Given the description of an element on the screen output the (x, y) to click on. 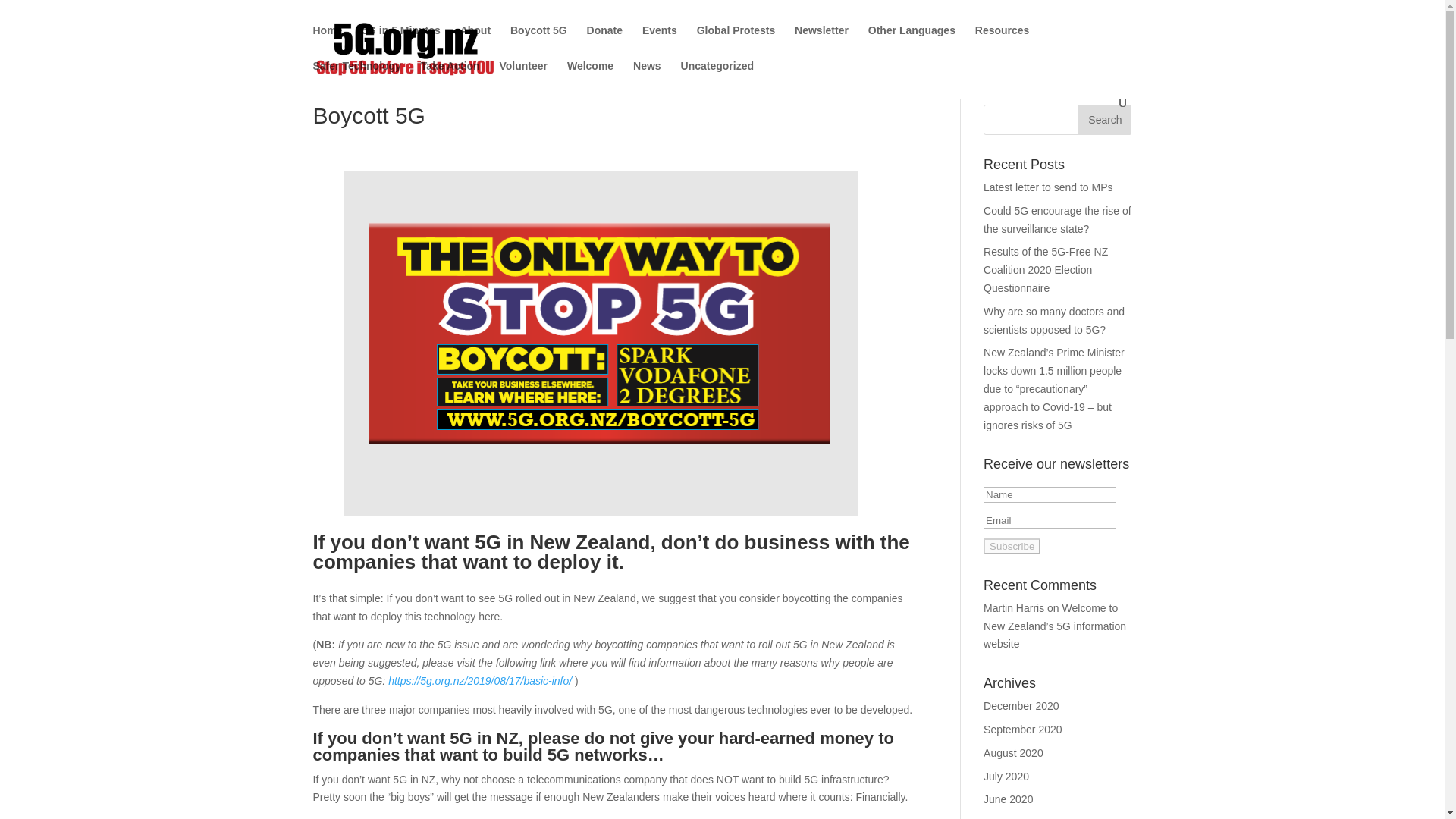
Welcome (589, 78)
Resources (1002, 42)
September 2020 (1023, 729)
May 2020 (1006, 817)
Could 5G encourage the rise of the surveillance state? (1057, 219)
Boycott 5G (539, 42)
5G in 5 Minutes (400, 42)
June 2020 (1008, 799)
Newsletter (821, 42)
